Given the description of an element on the screen output the (x, y) to click on. 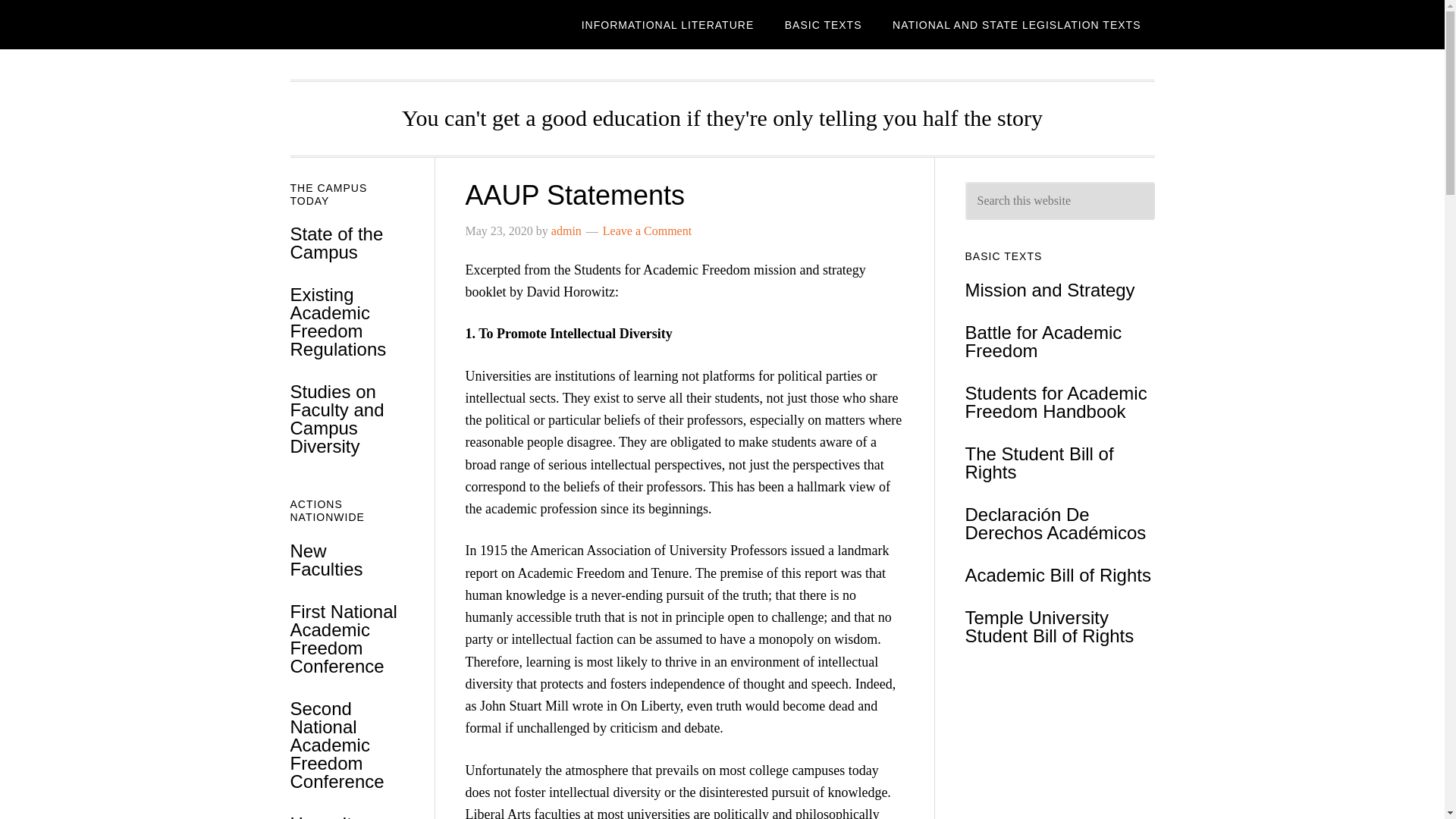
Battle for Academic Freedom (1042, 341)
Academic Bill of Rights (1056, 575)
Mission and Strategy (1048, 290)
STUDENTS FOR ACADEMIC FREEDOM (410, 24)
Students for Academic Freedom Handbook (1055, 402)
Second National Academic Freedom Conference (336, 744)
admin (565, 230)
Studies on Faculty and Campus Diversity (336, 418)
Horowitz Testimonies To Legislative Bodies (343, 816)
The Student Bill of Rights (1038, 462)
State of the Campus (335, 242)
